Given the description of an element on the screen output the (x, y) to click on. 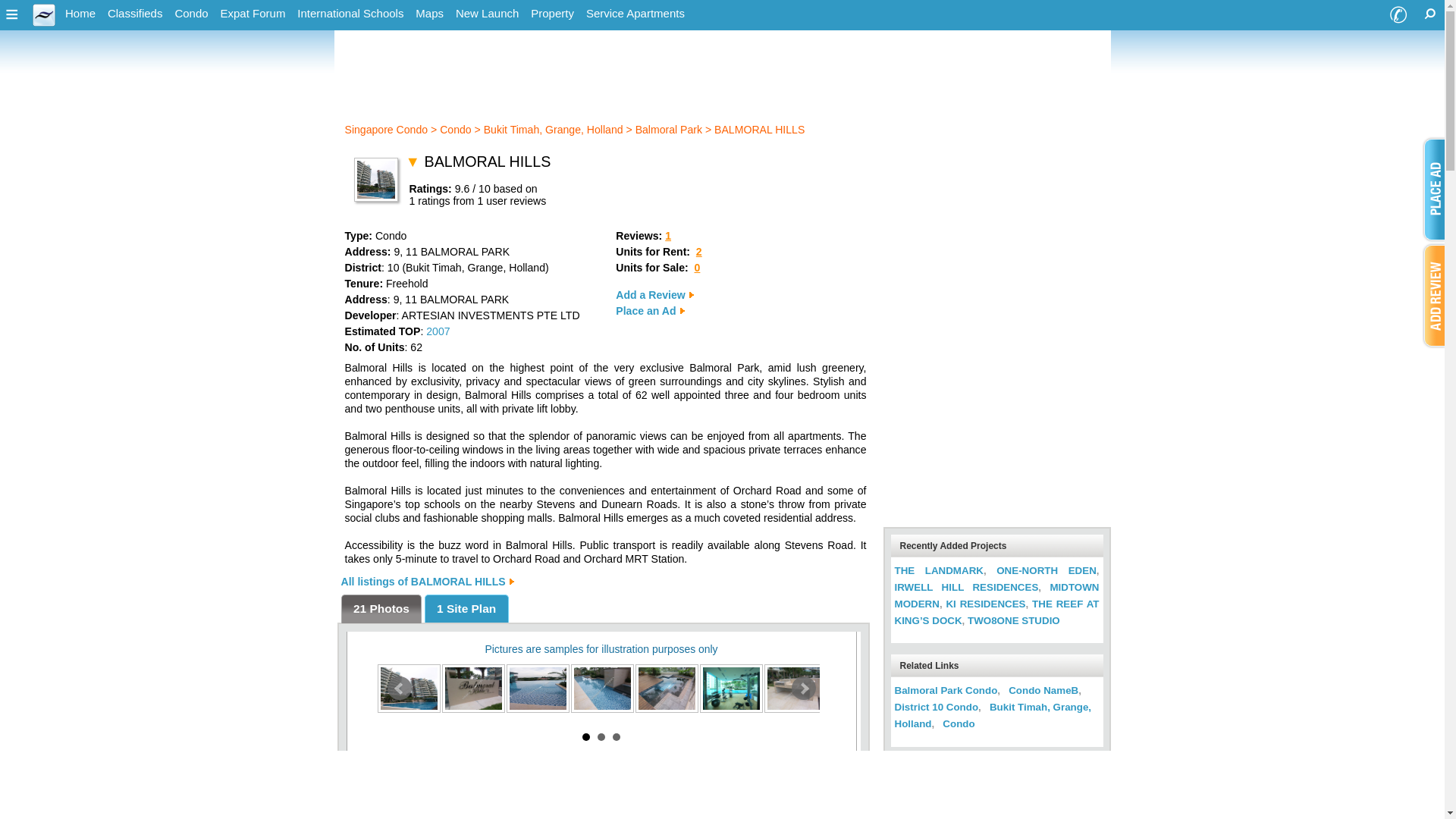
Singapore International Schools (349, 13)
Singapore Expats (44, 21)
Property (551, 13)
Singapore Classified Ads (135, 13)
Singapore Street Maps (429, 13)
Condo (191, 13)
Contact Us (1397, 15)
Maps (429, 13)
Singapore Expats Forum (252, 13)
International Schools (349, 13)
Service Apartments (634, 13)
Home (80, 13)
Expat Forum (252, 13)
Classifieds (135, 13)
New Launch (486, 13)
